Given the description of an element on the screen output the (x, y) to click on. 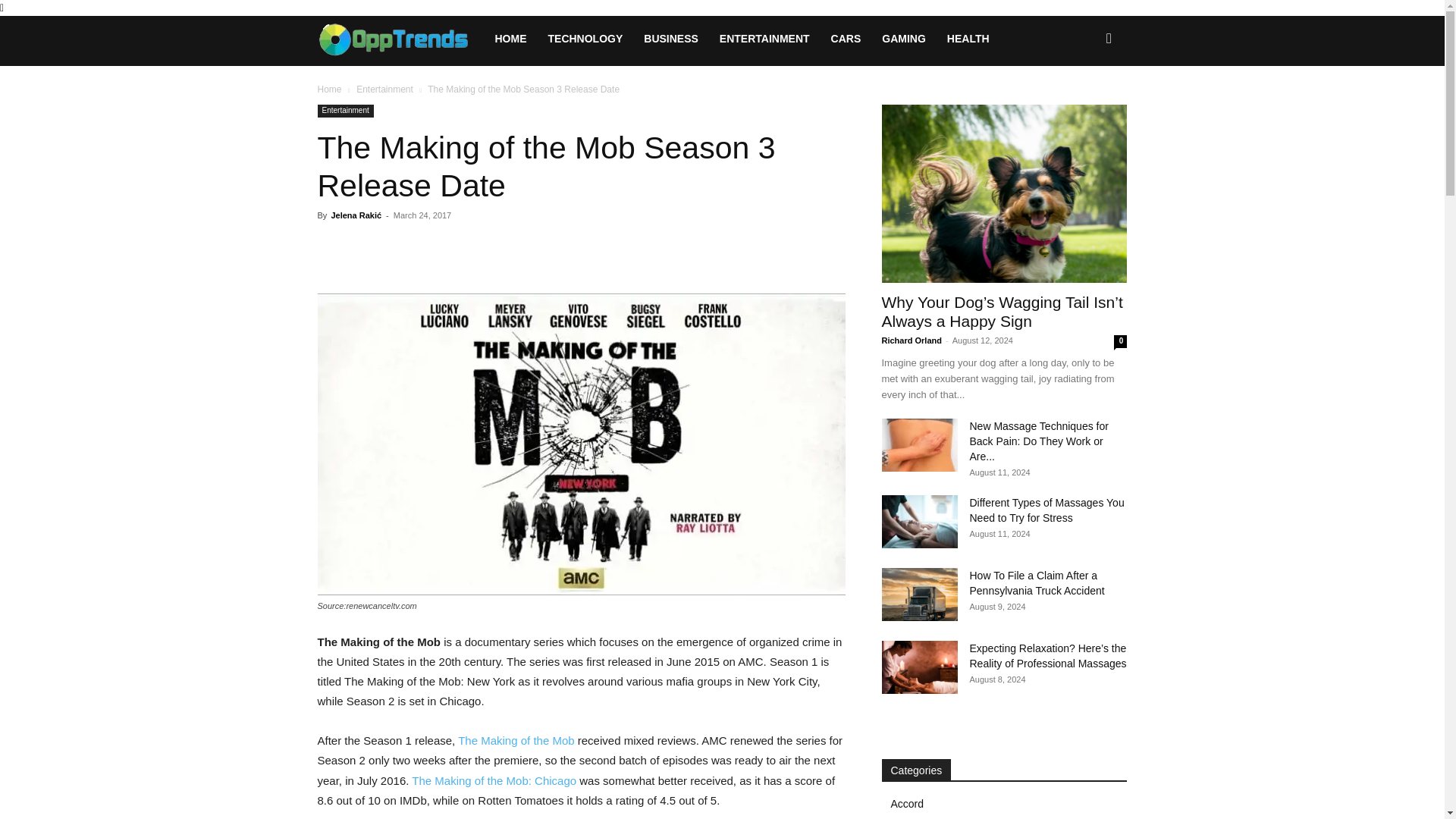
The Making of the Mob (515, 739)
CARS (846, 38)
Opptrends 2024 (400, 38)
Home (328, 89)
Entertainment (344, 110)
BUSINESS (671, 38)
View all posts in Entertainment (384, 89)
TECHNOLOGY (585, 38)
GAMING (903, 38)
